Given the description of an element on the screen output the (x, y) to click on. 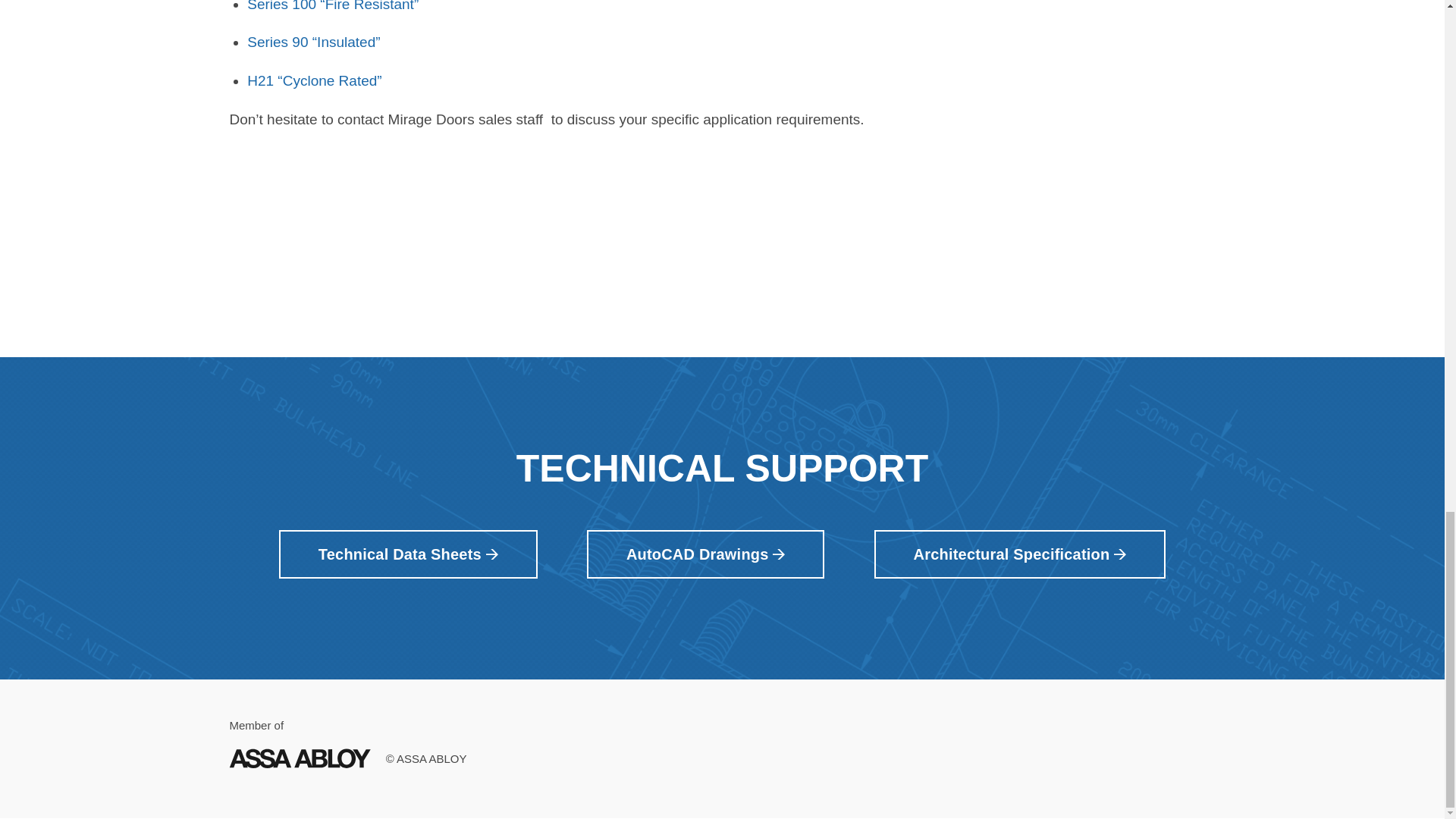
arrow-right-buttons (491, 554)
arrow-right-buttons (1119, 554)
arrow-right-buttons (778, 554)
